Given the description of an element on the screen output the (x, y) to click on. 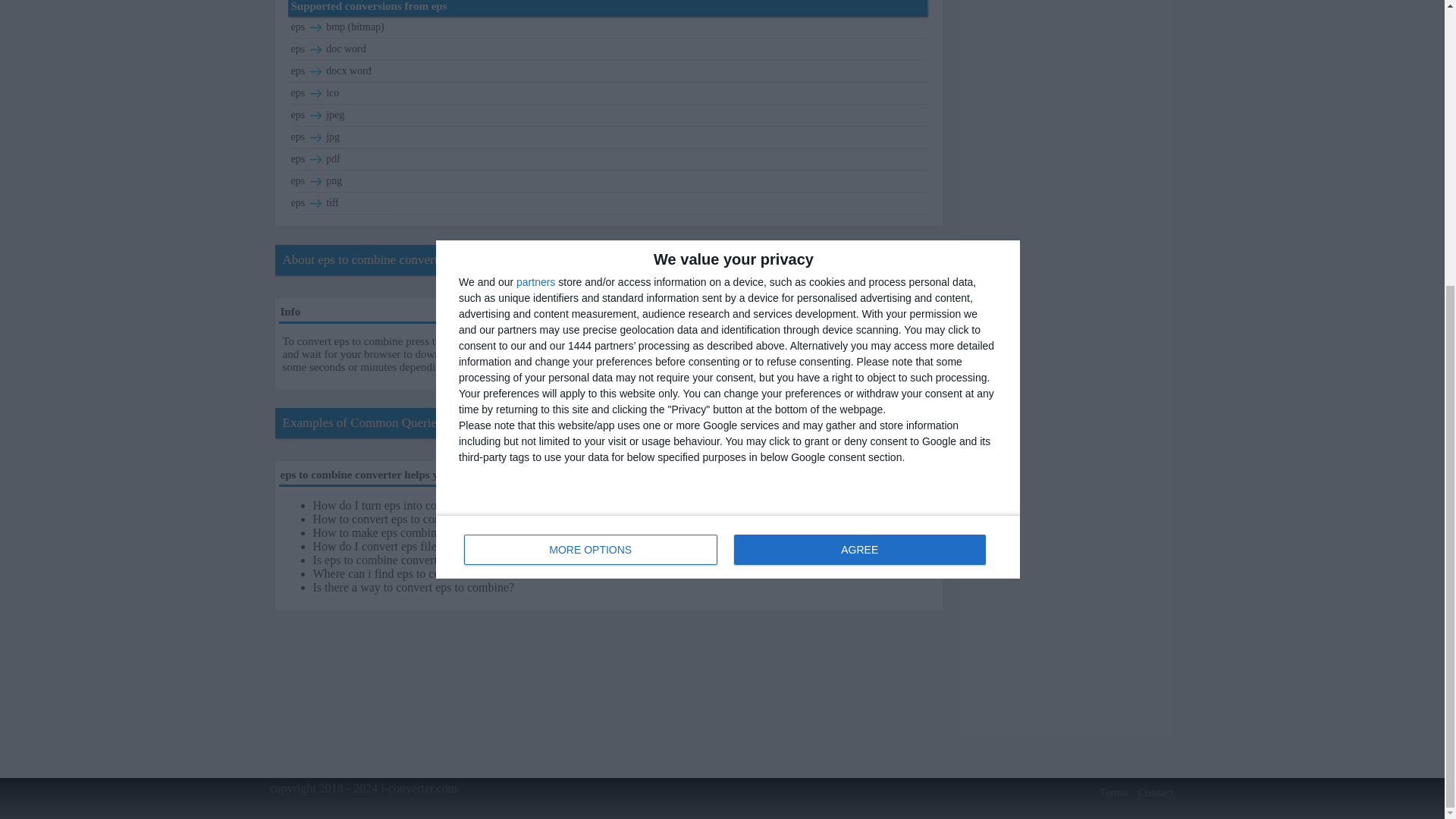
eps docx word (608, 70)
eps jpg (608, 136)
eps jpeg (608, 114)
MORE OPTIONS (590, 118)
convert to (315, 49)
eps doc word (608, 48)
convert to (315, 27)
convert to (315, 71)
AGREE (859, 118)
eps ico (608, 92)
